Given the description of an element on the screen output the (x, y) to click on. 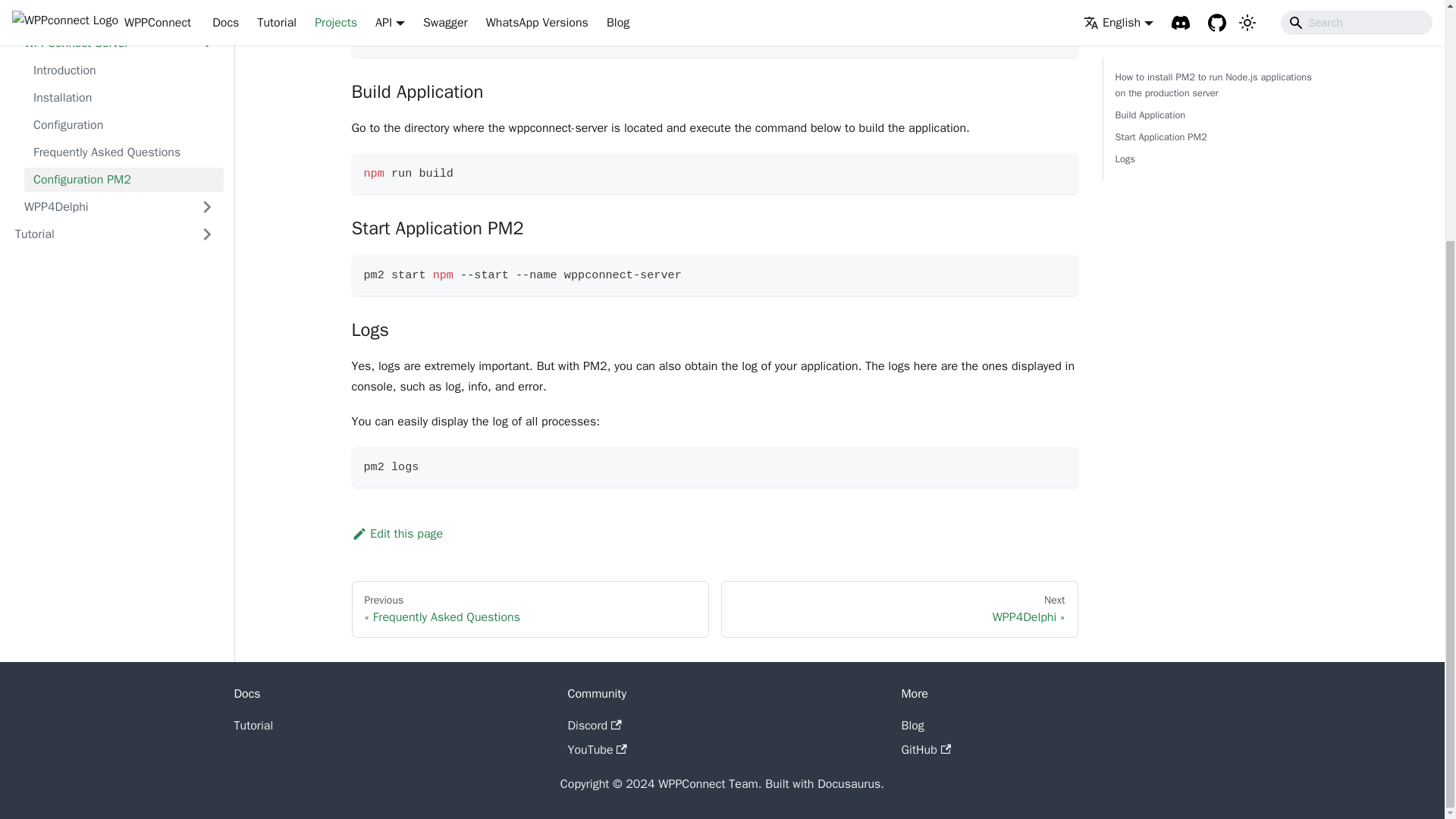
sudo npm install -g pm2 (715, 36)
Frequently Asked Questions (124, 5)
WPP4Delphi (102, 53)
pm2 start npm --start --name wppconnect-server (715, 274)
Configuration PM2 (124, 26)
pm2 logs (715, 466)
npm run build (715, 173)
